Given the description of an element on the screen output the (x, y) to click on. 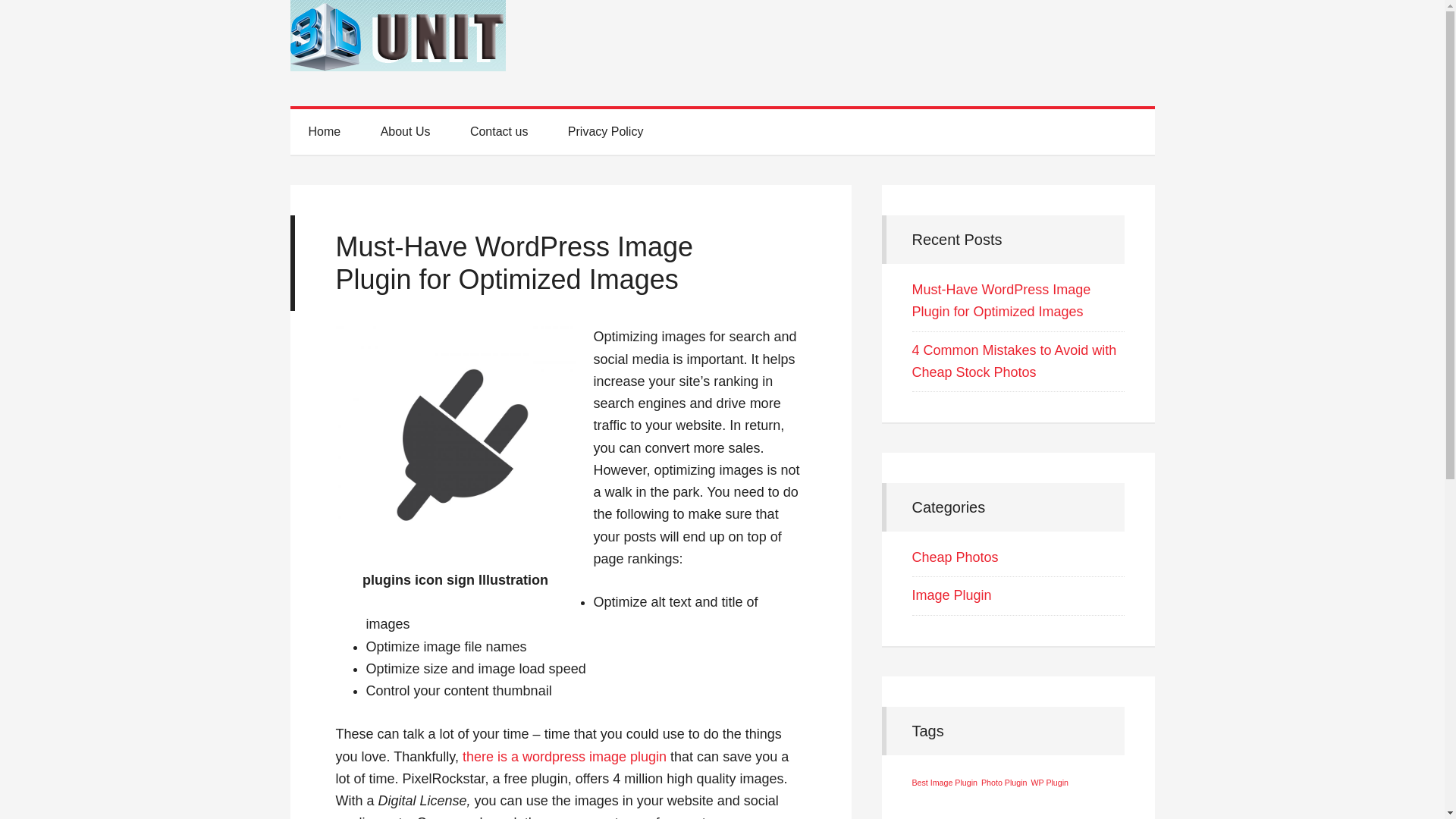
3D Unit Element type: text (721, 53)
Cheap Photos Element type: text (954, 556)
Photo Plugin Element type: text (1003, 782)
there is a wordpress image plugin Element type: text (564, 756)
Privacy Policy Element type: text (605, 131)
WP Plugin Element type: text (1049, 782)
Image Plugin Element type: text (951, 594)
About Us Element type: text (405, 131)
Contact us Element type: text (498, 131)
Best Image Plugin Element type: text (943, 782)
Must-Have WordPress Image Plugin for Optimized Images Element type: text (1000, 300)
Home Element type: text (323, 131)
4 Common Mistakes to Avoid with Cheap Stock Photos Element type: text (1013, 360)
